Given the description of an element on the screen output the (x, y) to click on. 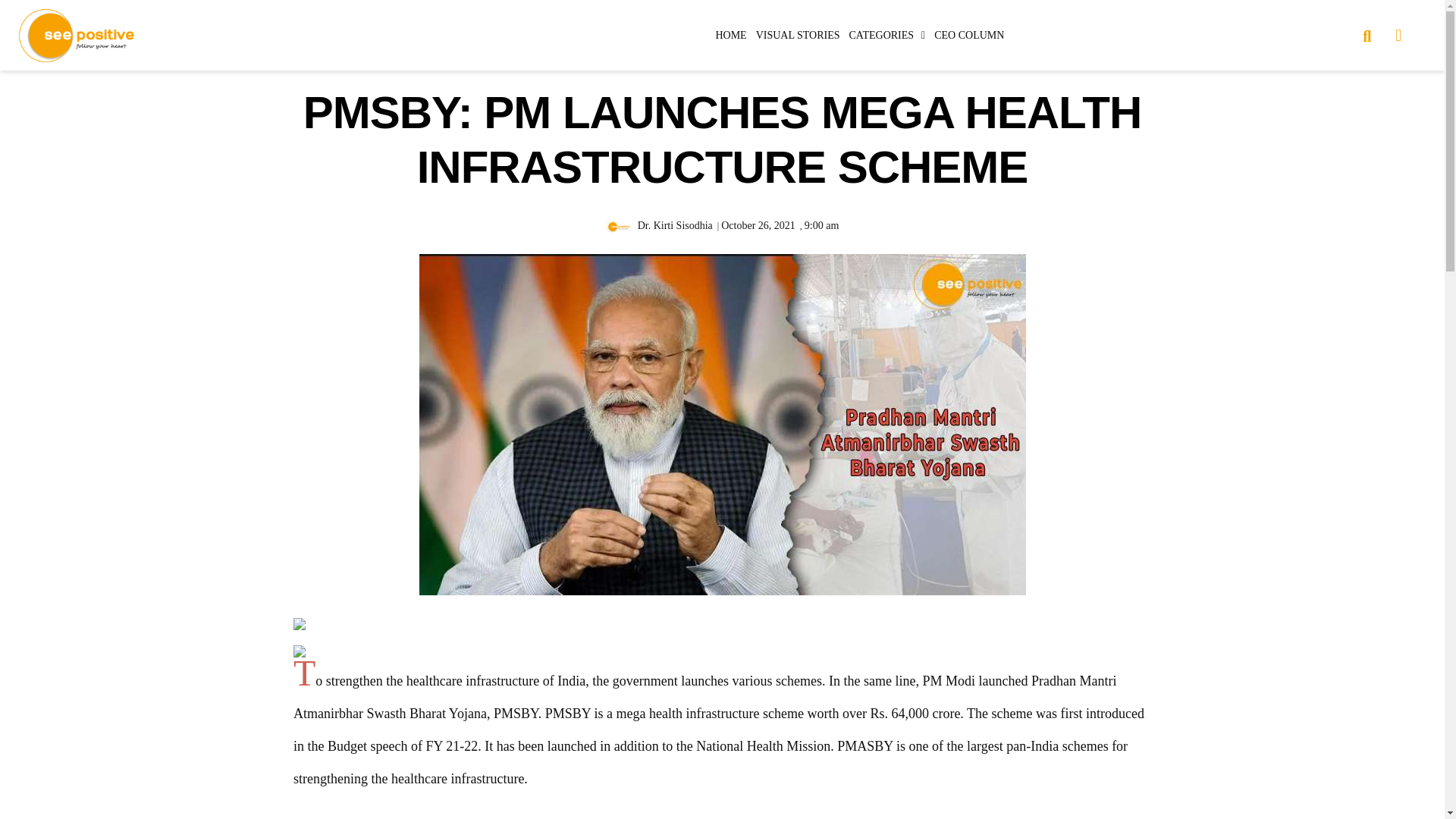
Search (1359, 34)
Advertisement (149, 722)
HOME (729, 35)
CATEGORIES (887, 35)
CEO COLUMN (969, 35)
Advertisement (1293, 722)
VISUAL STORIES (797, 35)
